Given the description of an element on the screen output the (x, y) to click on. 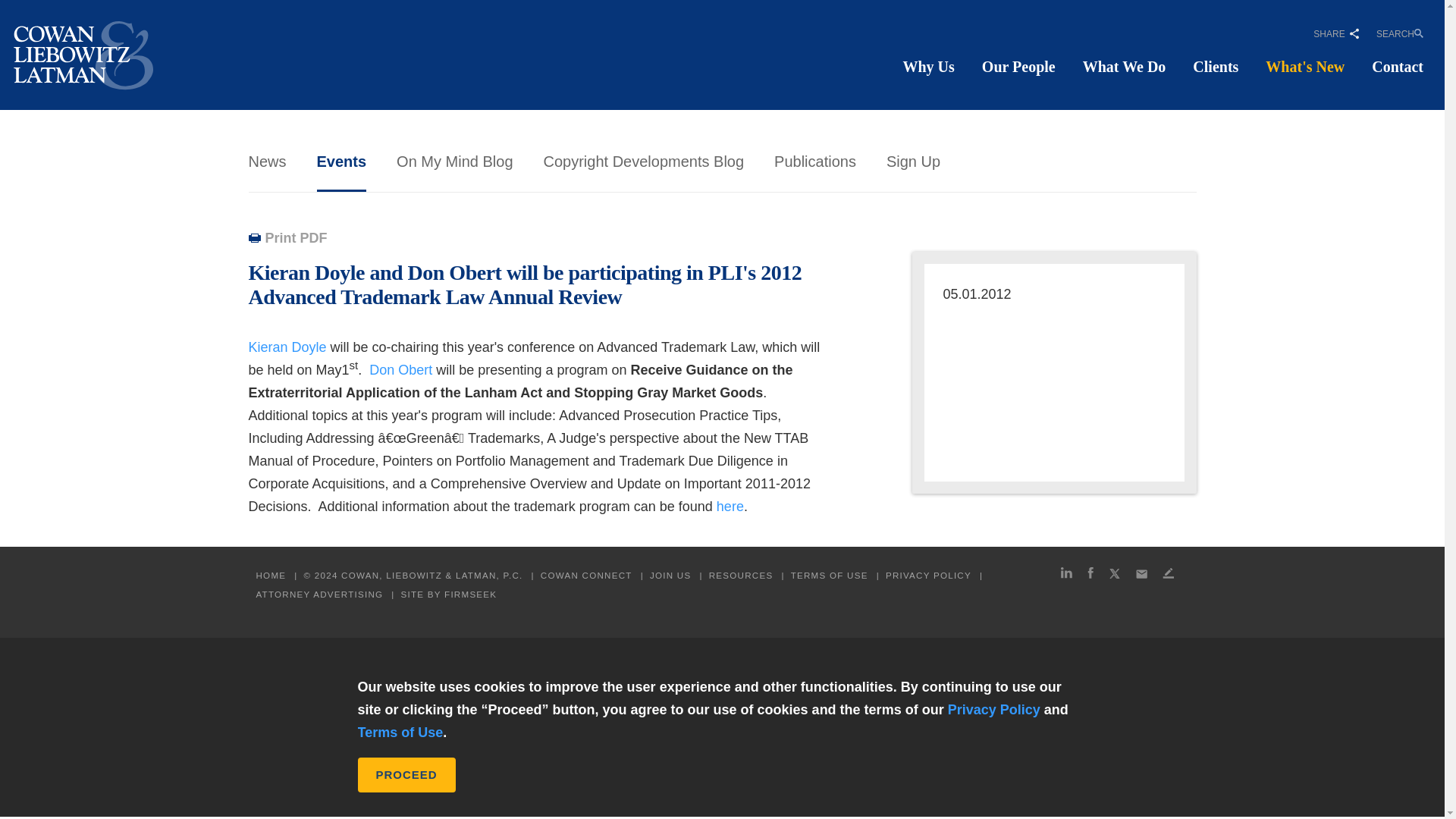
Sign Up (913, 161)
What We Do (1123, 66)
On My Mind Blog (454, 161)
Don Obert (400, 369)
Publications (815, 161)
here (730, 506)
Subscribe (1167, 574)
HOME (271, 574)
News (267, 161)
COWAN CONNECT (585, 574)
Copyright Developments Blog (643, 161)
Print PDF (287, 237)
Contact Us (1141, 574)
Facebook (1090, 574)
LinkedIn (1065, 574)
